Given the description of an element on the screen output the (x, y) to click on. 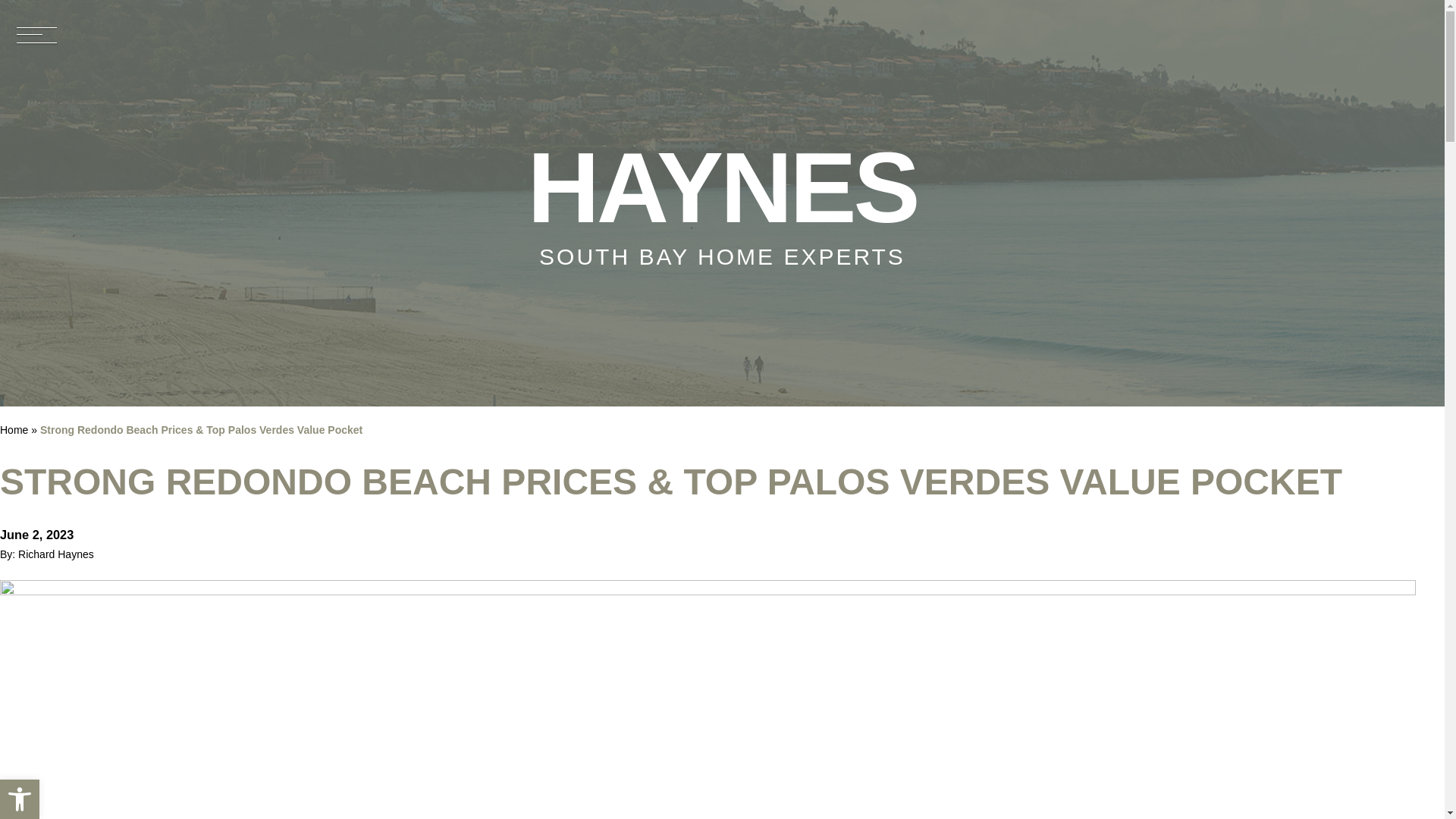
Accessibility Tools (19, 799)
Accessibility Tools (19, 799)
Home (722, 203)
